Given the description of an element on the screen output the (x, y) to click on. 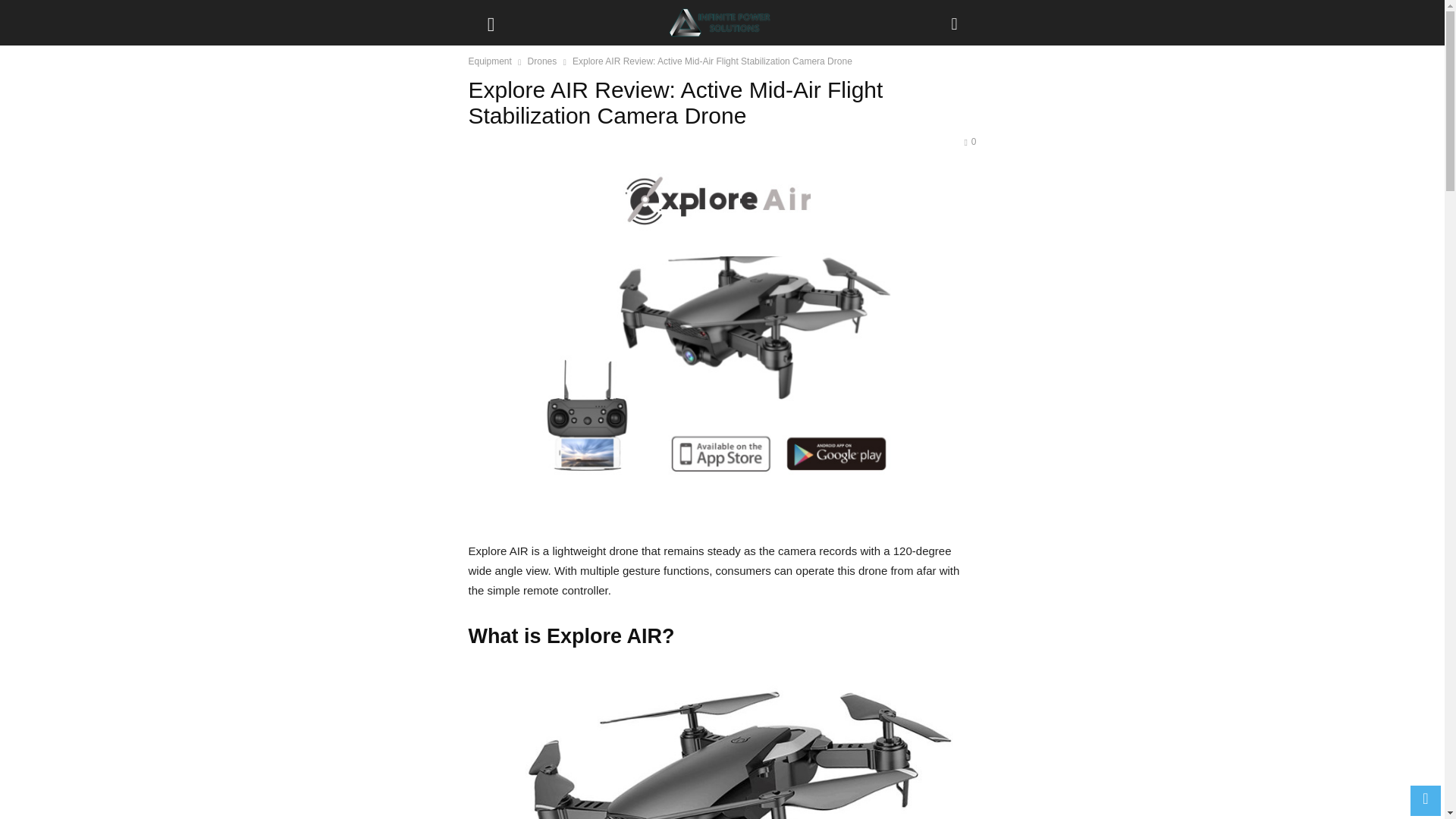
Equipment (490, 61)
View all posts in Equipment (490, 61)
0 (969, 141)
View all posts in Drones (542, 61)
Drones (542, 61)
